Given the description of an element on the screen output the (x, y) to click on. 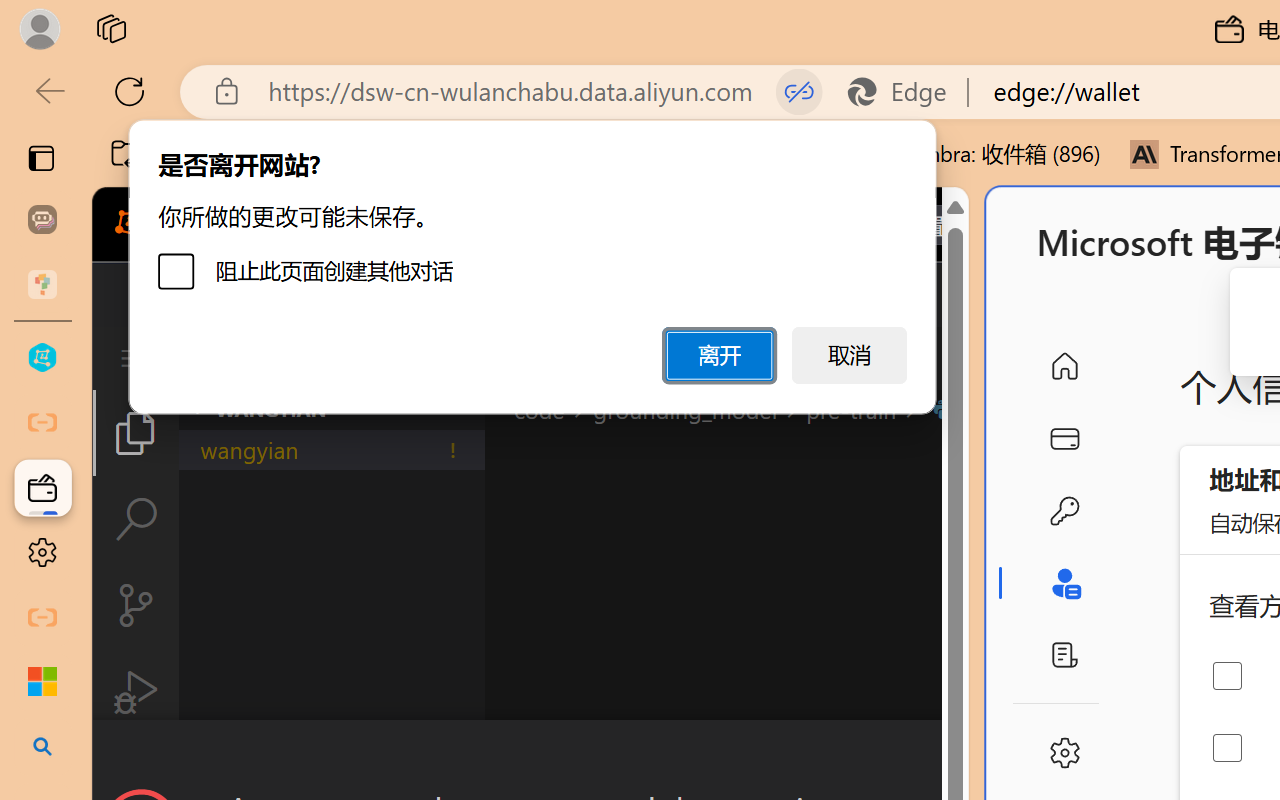
Class: actions-container (529, 756)
